Given the description of an element on the screen output the (x, y) to click on. 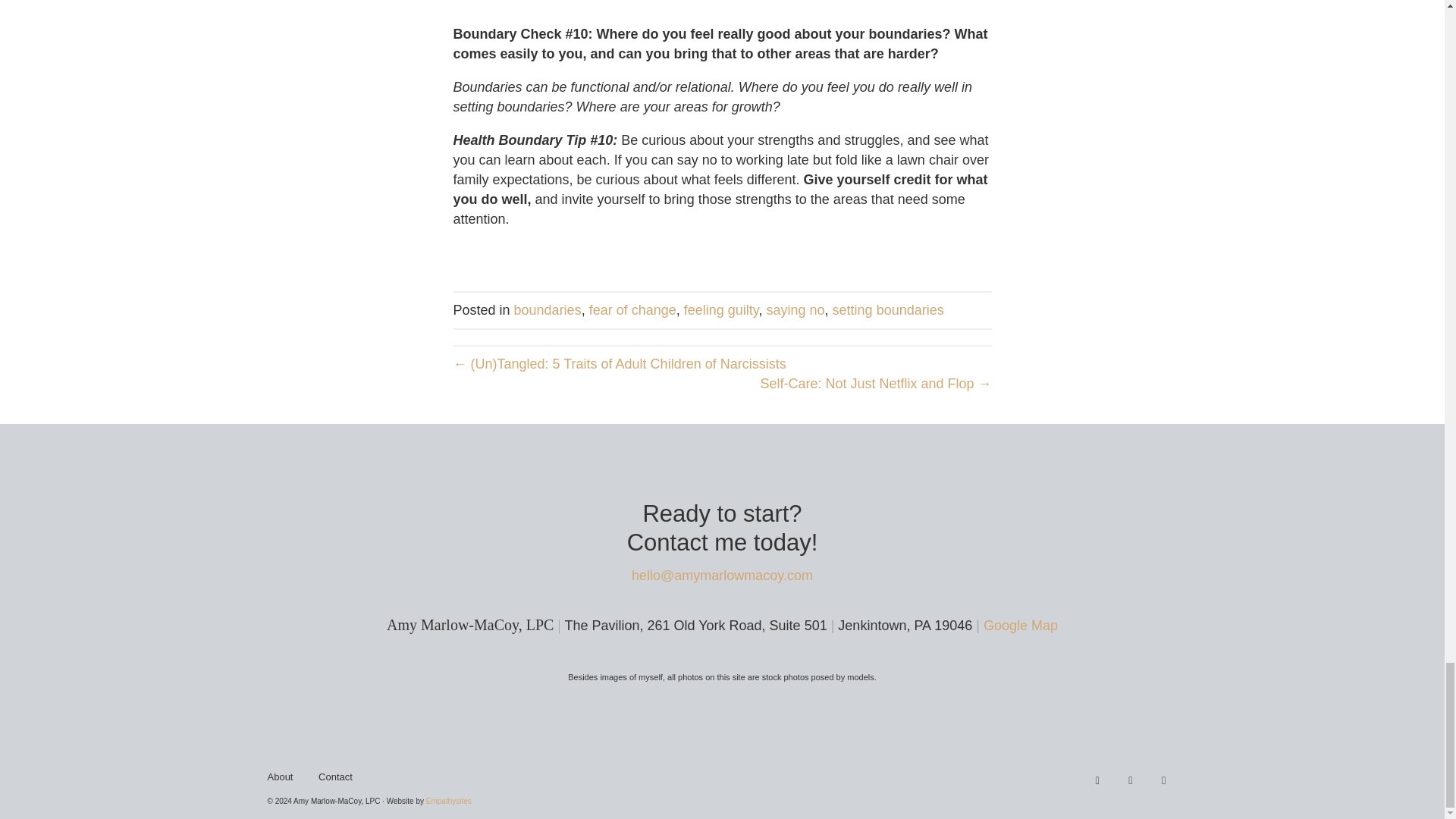
Facebook (1096, 780)
fear of change (633, 309)
Instagram (1130, 780)
feeling guilty (721, 309)
Email (1163, 780)
About (280, 782)
setting boundaries (887, 309)
Google Map (1021, 625)
Contact (335, 782)
saying no (796, 309)
Empathysites (448, 800)
boundaries (546, 309)
